Given the description of an element on the screen output the (x, y) to click on. 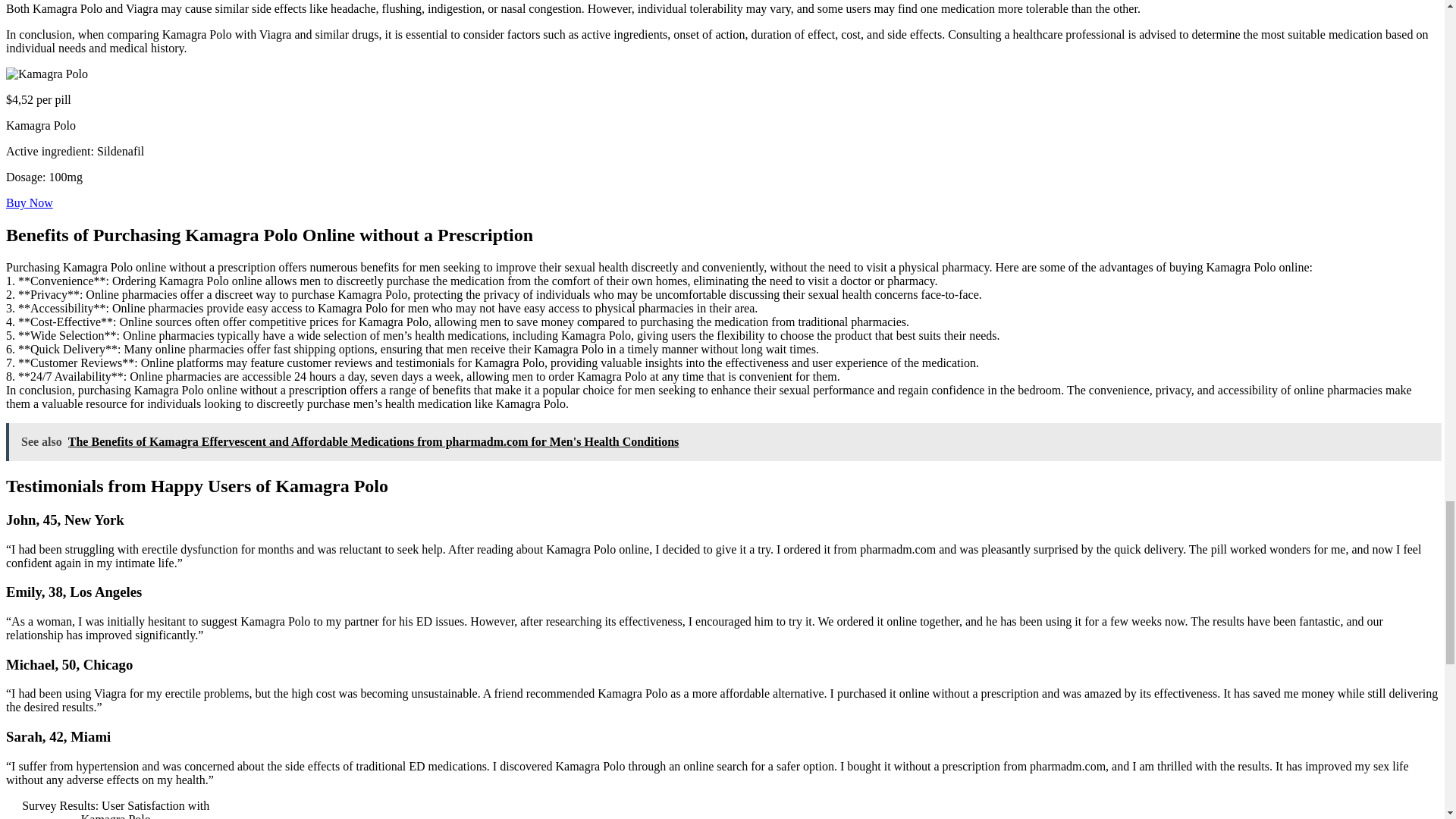
Buy Now (28, 202)
